Given the description of an element on the screen output the (x, y) to click on. 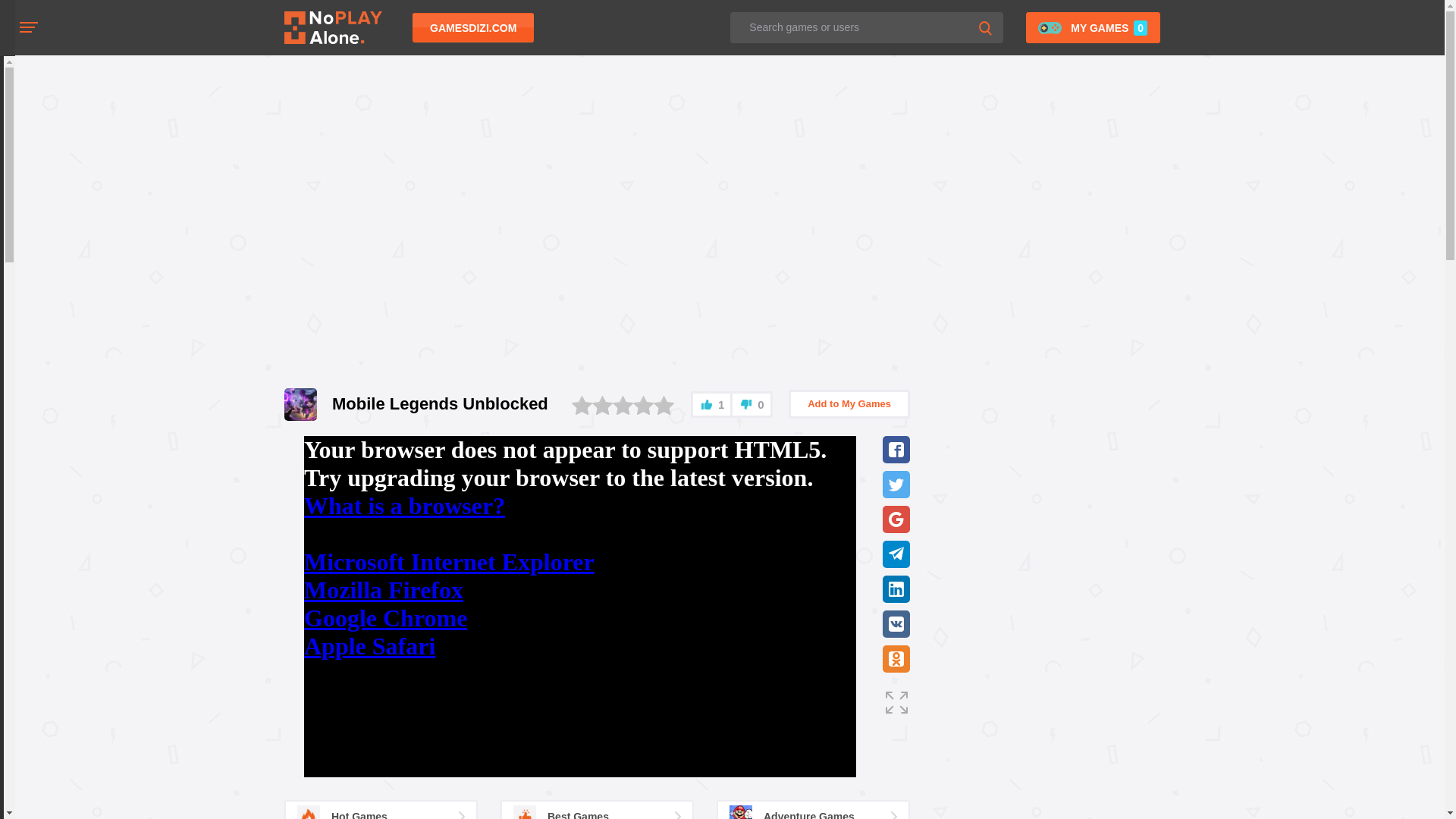
Search games or users (866, 27)
Search games or users (866, 27)
Share link on Telegram (896, 554)
Share link on Vkontakte (896, 624)
Share link on LinkedIn (896, 588)
Advertisement (503, 215)
Share link on Odnoklassniki (896, 658)
Share link on Twitter (896, 483)
Share link on Facebook (896, 449)
